Given the description of an element on the screen output the (x, y) to click on. 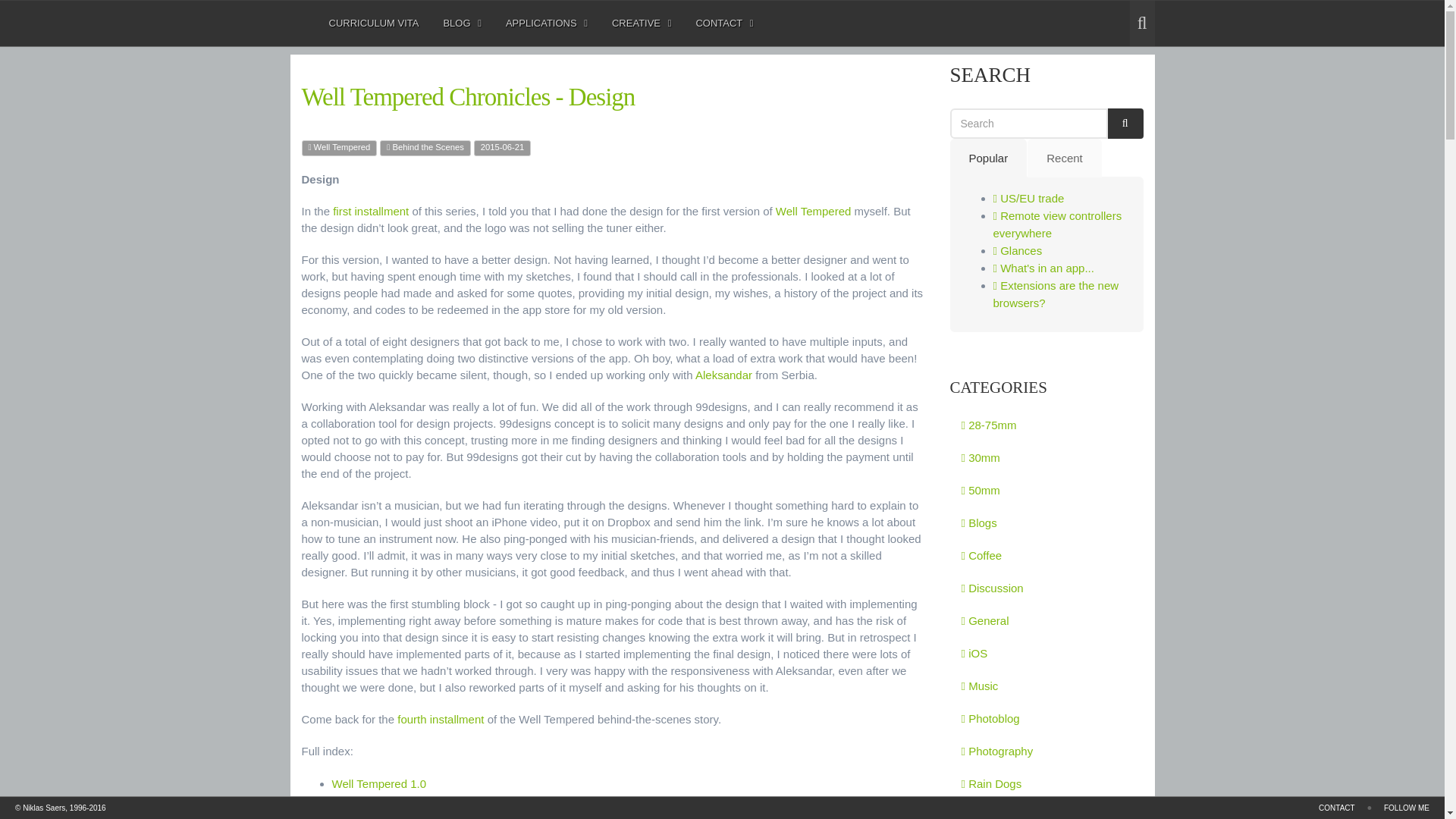
BLOG (461, 22)
APPLICATIONS (541, 22)
CREATIVE (546, 22)
CURRICULUM VITA (640, 22)
